Given the description of an element on the screen output the (x, y) to click on. 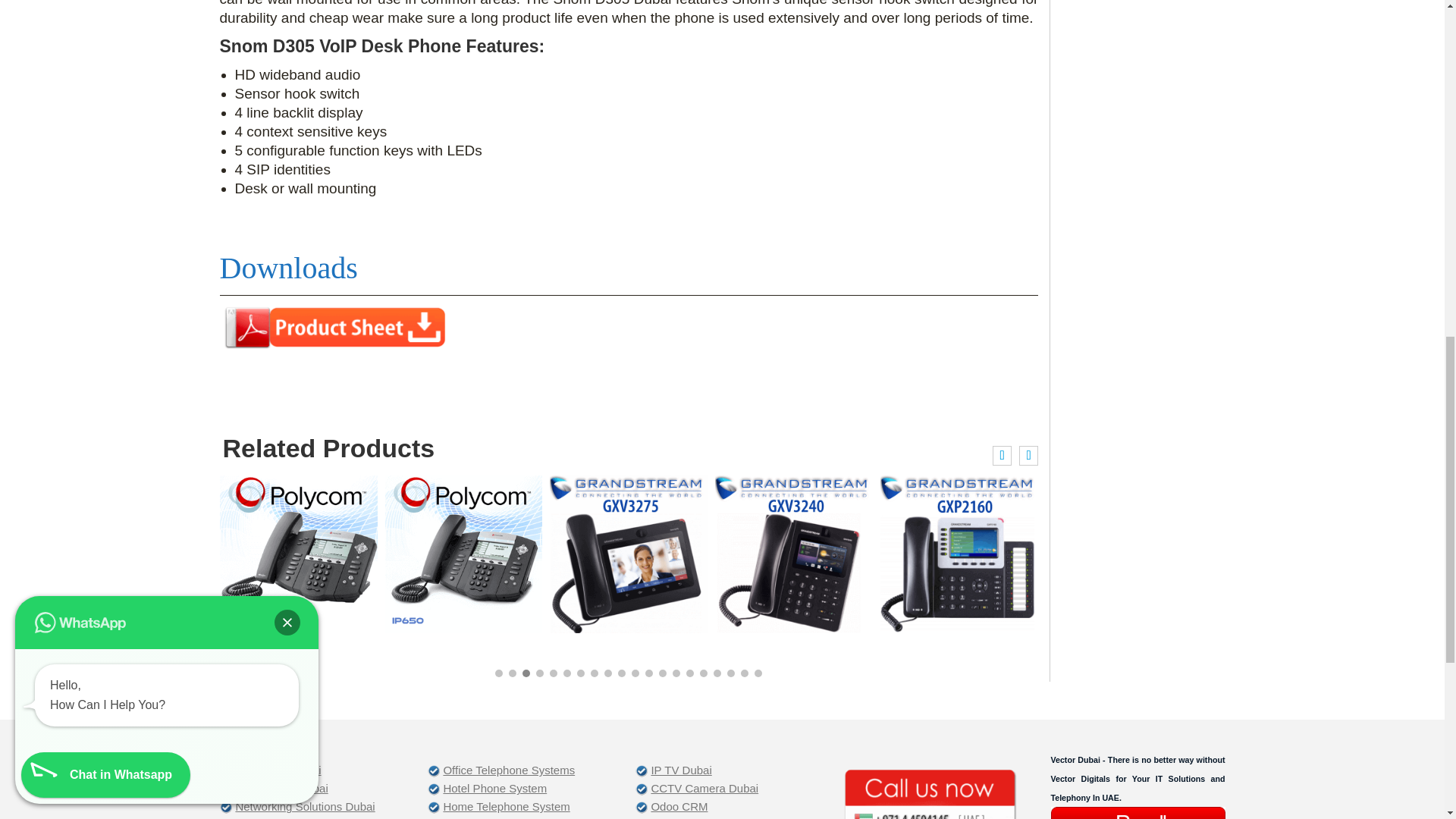
Vector Dubai Abudhabi Uae Contactus (930, 793)
